Given the description of an element on the screen output the (x, y) to click on. 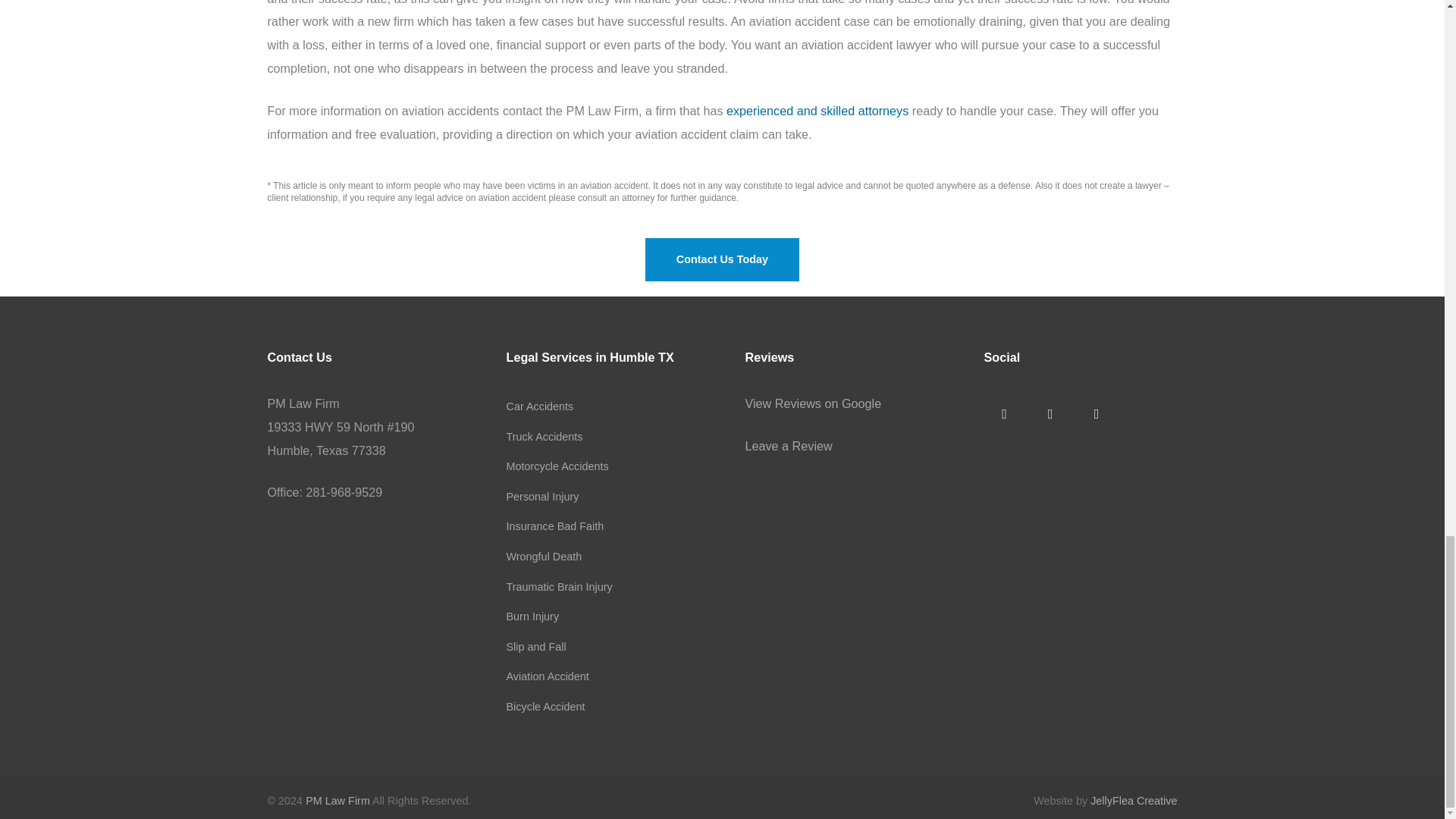
PM Law Firm on Linkedin (1095, 413)
PM Law Firm on X Twitter (1049, 413)
Houston Web Design (1133, 800)
PM Law Firm on Facebook (1004, 413)
